Given the description of an element on the screen output the (x, y) to click on. 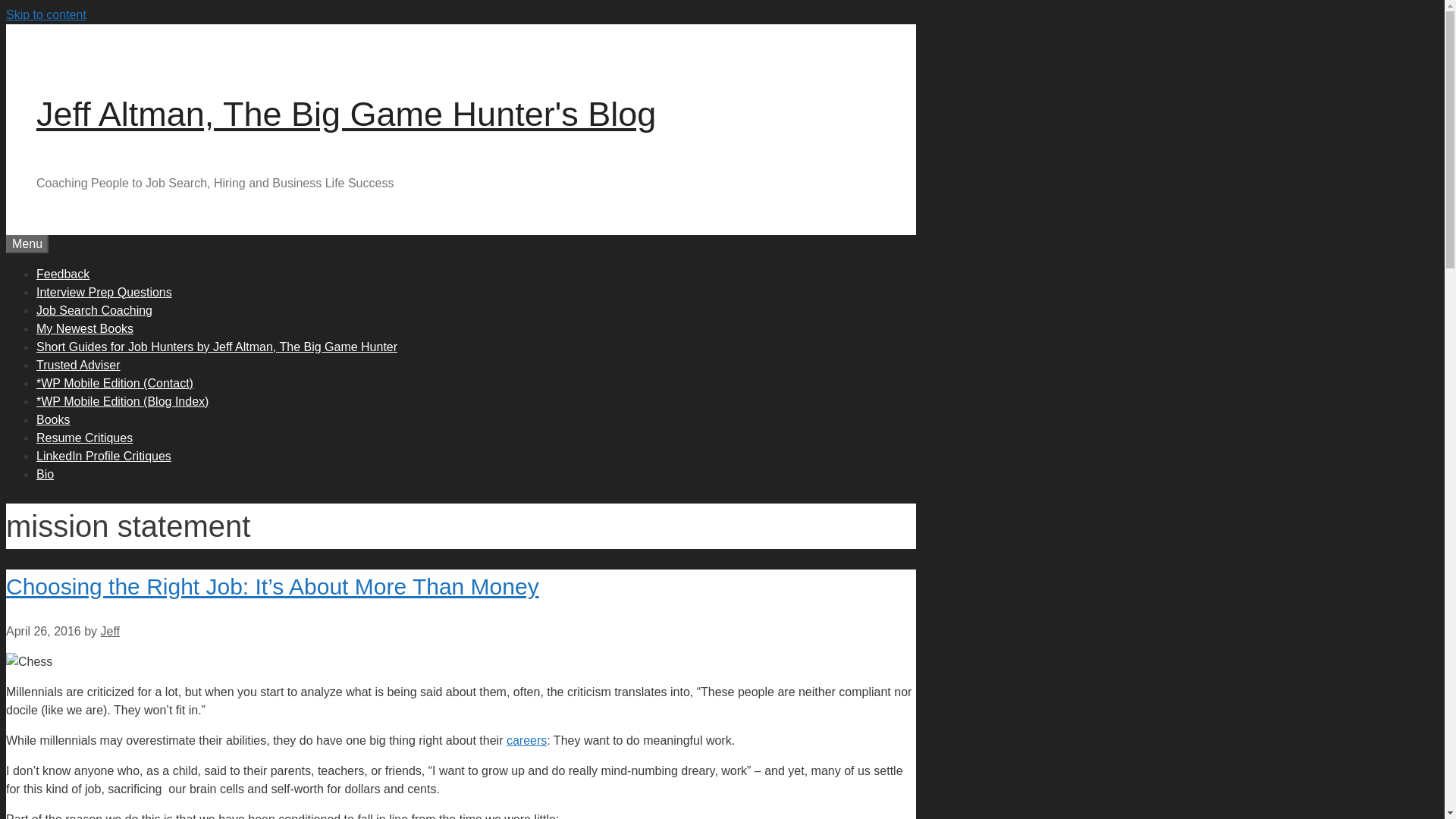
Menu (26, 244)
View all posts by Jeff (110, 631)
Trusted Adviser (78, 364)
Jeff (110, 631)
Skip to content (45, 14)
Resume Critiques (84, 436)
Books (52, 418)
Jeff Altman, The Big Game Hunter's Blog (346, 114)
Job Search Coaching (94, 309)
careers (526, 739)
Feedback (62, 273)
Bio (44, 472)
LinkedIn Profile Critiques (103, 454)
Interview Prep Questions (103, 291)
